Given the description of an element on the screen output the (x, y) to click on. 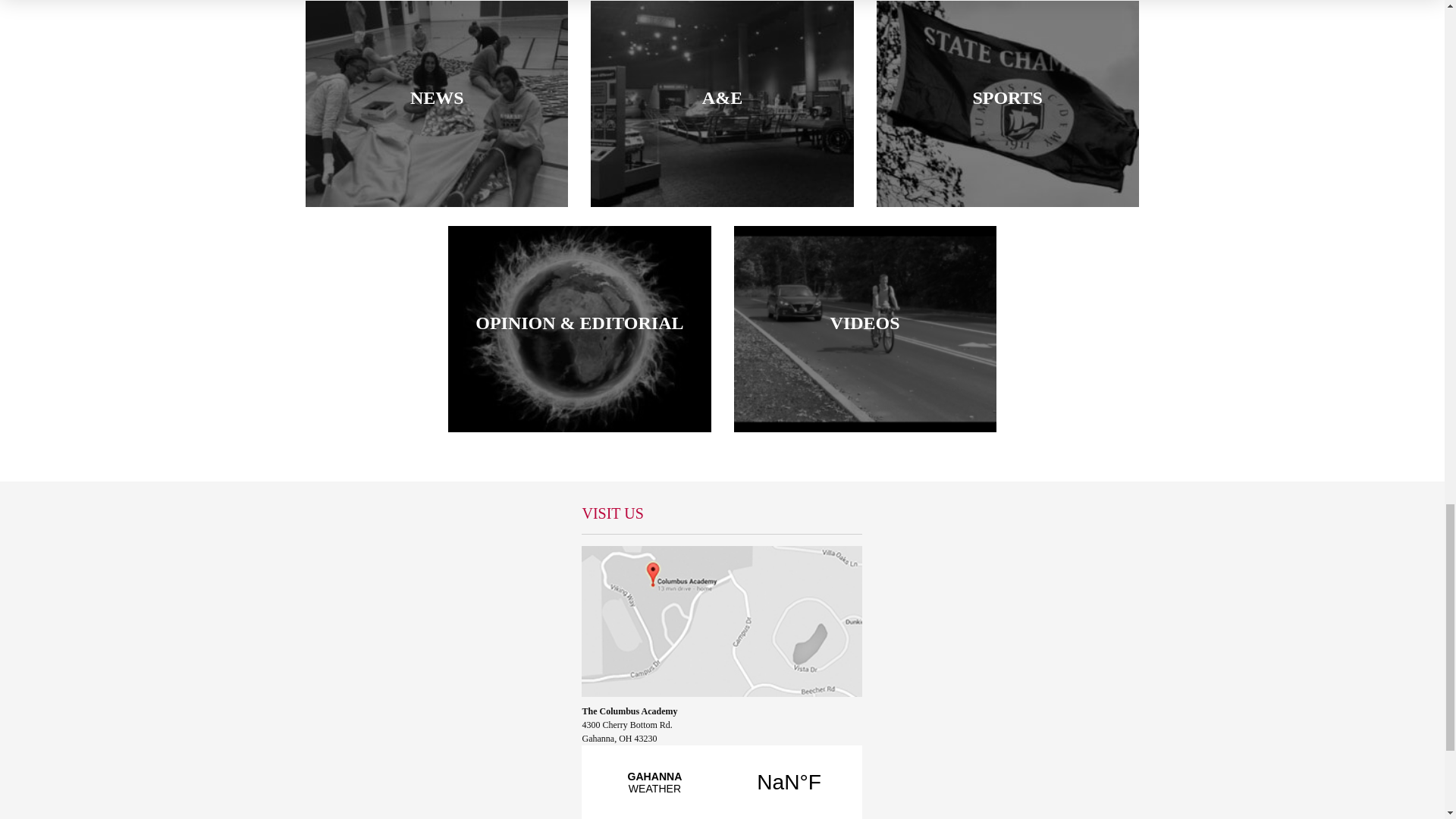
Weather Widget (720, 781)
